Given the description of an element on the screen output the (x, y) to click on. 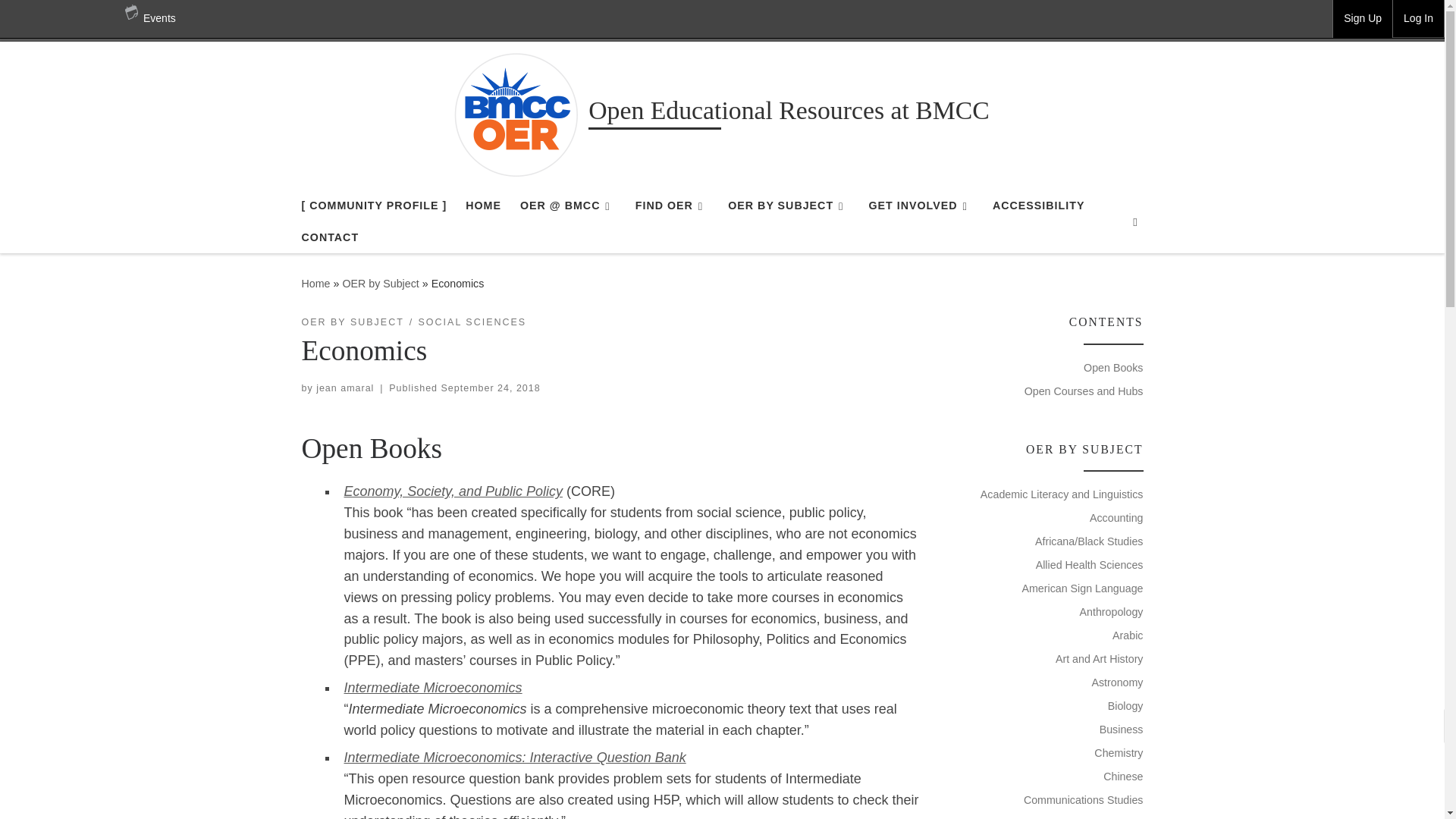
Sign Up (1362, 18)
Open Educational Resources at BMCC (315, 283)
Open Educational Resources at BMCC (789, 113)
View all posts by jean amaral (344, 388)
FIND OER (672, 205)
HOME (483, 205)
OER by Subject (380, 283)
Events (150, 18)
3:29 pm (490, 388)
View all posts in OER by Subject (352, 322)
